Given the description of an element on the screen output the (x, y) to click on. 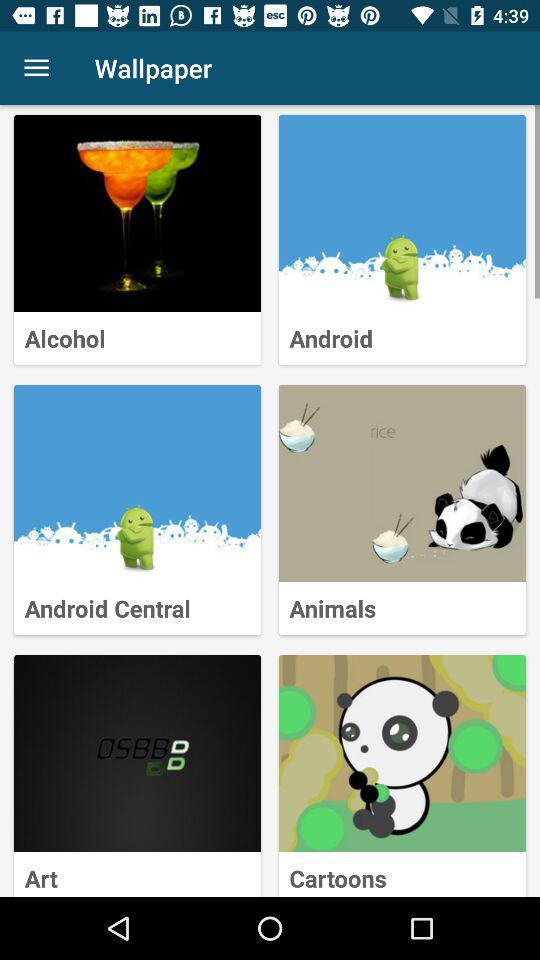
click animals (402, 483)
